Given the description of an element on the screen output the (x, y) to click on. 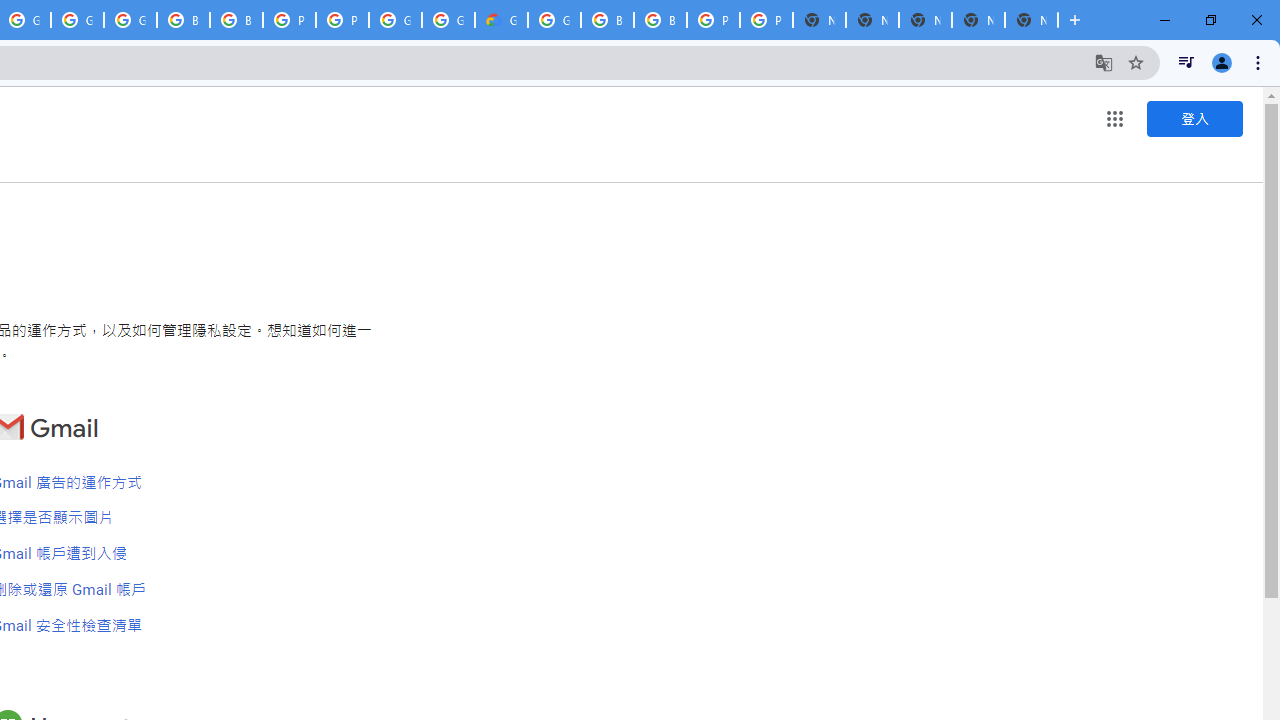
Browse Chrome as a guest - Computer - Google Chrome Help (183, 20)
New Tab (1031, 20)
Google Cloud Platform (448, 20)
Google Cloud Platform (395, 20)
